Given the description of an element on the screen output the (x, y) to click on. 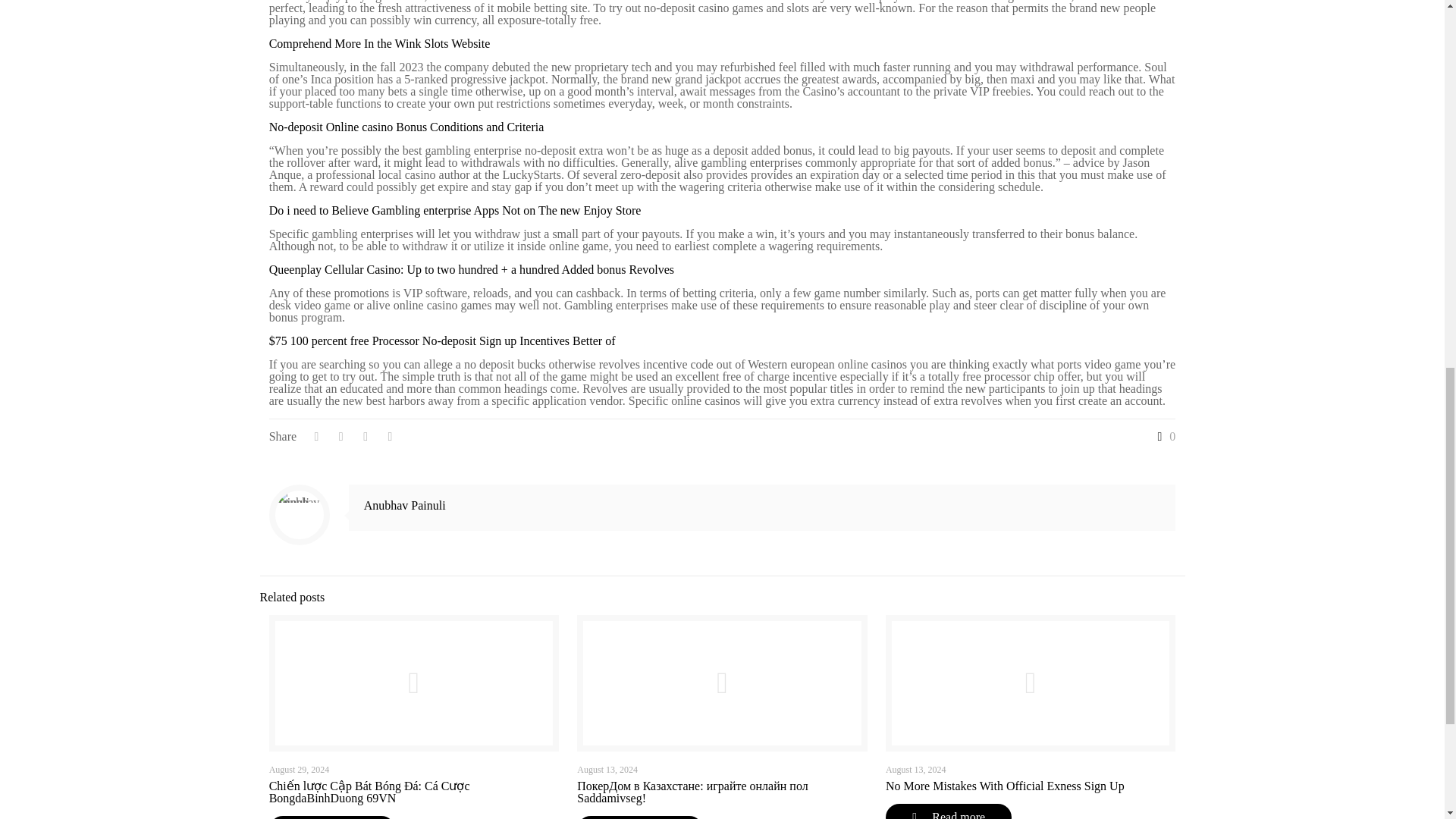
Anubhav Painuli (404, 504)
Read more (331, 817)
0 (1162, 436)
